Given the description of an element on the screen output the (x, y) to click on. 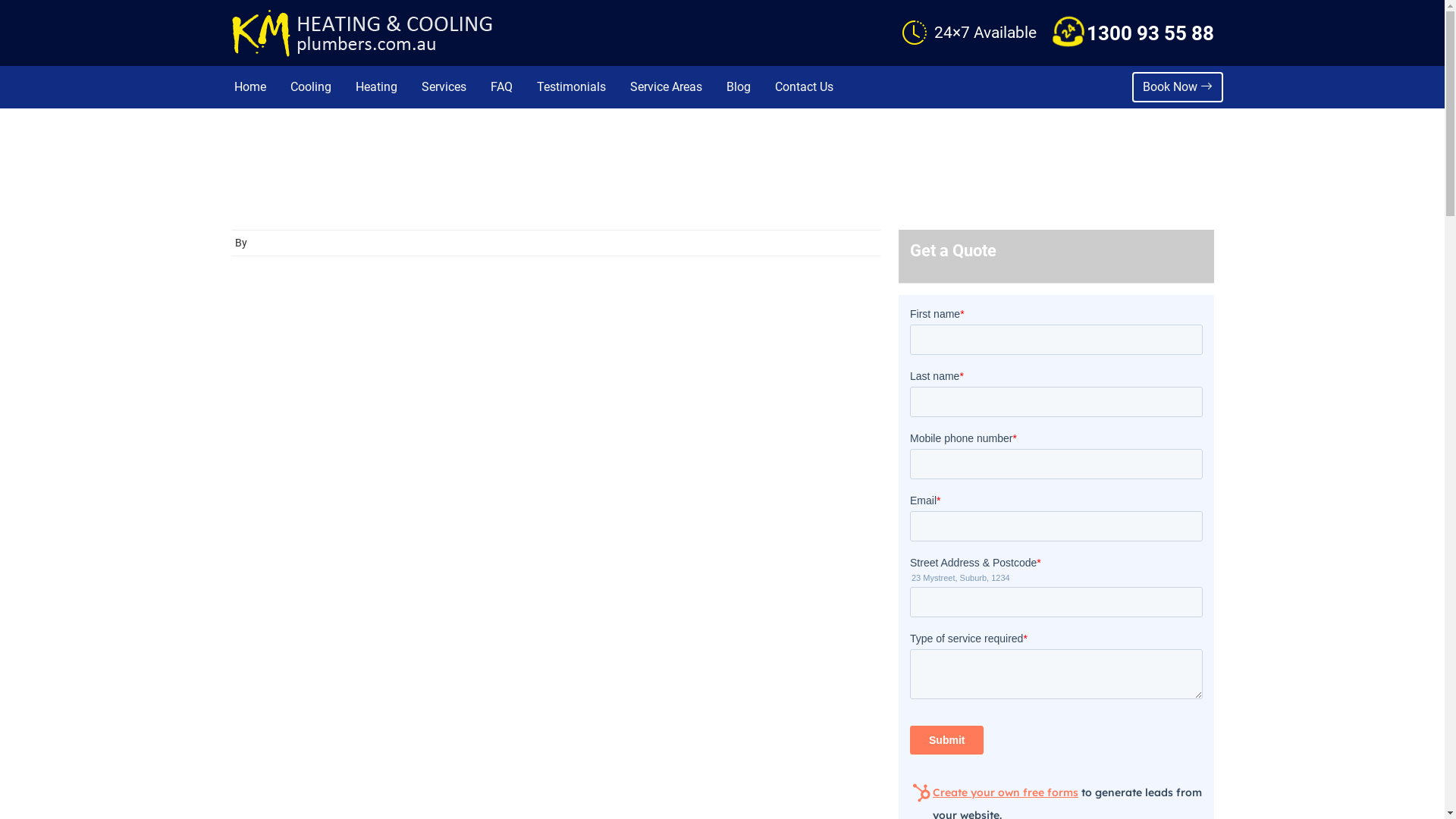
Home Element type: text (249, 86)
Service Areas Element type: text (665, 86)
Testimonials Element type: text (570, 86)
Cooling Element type: text (310, 86)
Book Now Element type: text (1176, 87)
Services Element type: text (442, 86)
Heating Element type: text (376, 86)
Blog Element type: text (737, 86)
Contact Us Element type: text (803, 86)
FAQ Element type: text (501, 86)
1300 93 55 88 Element type: text (1149, 33)
